Given the description of an element on the screen output the (x, y) to click on. 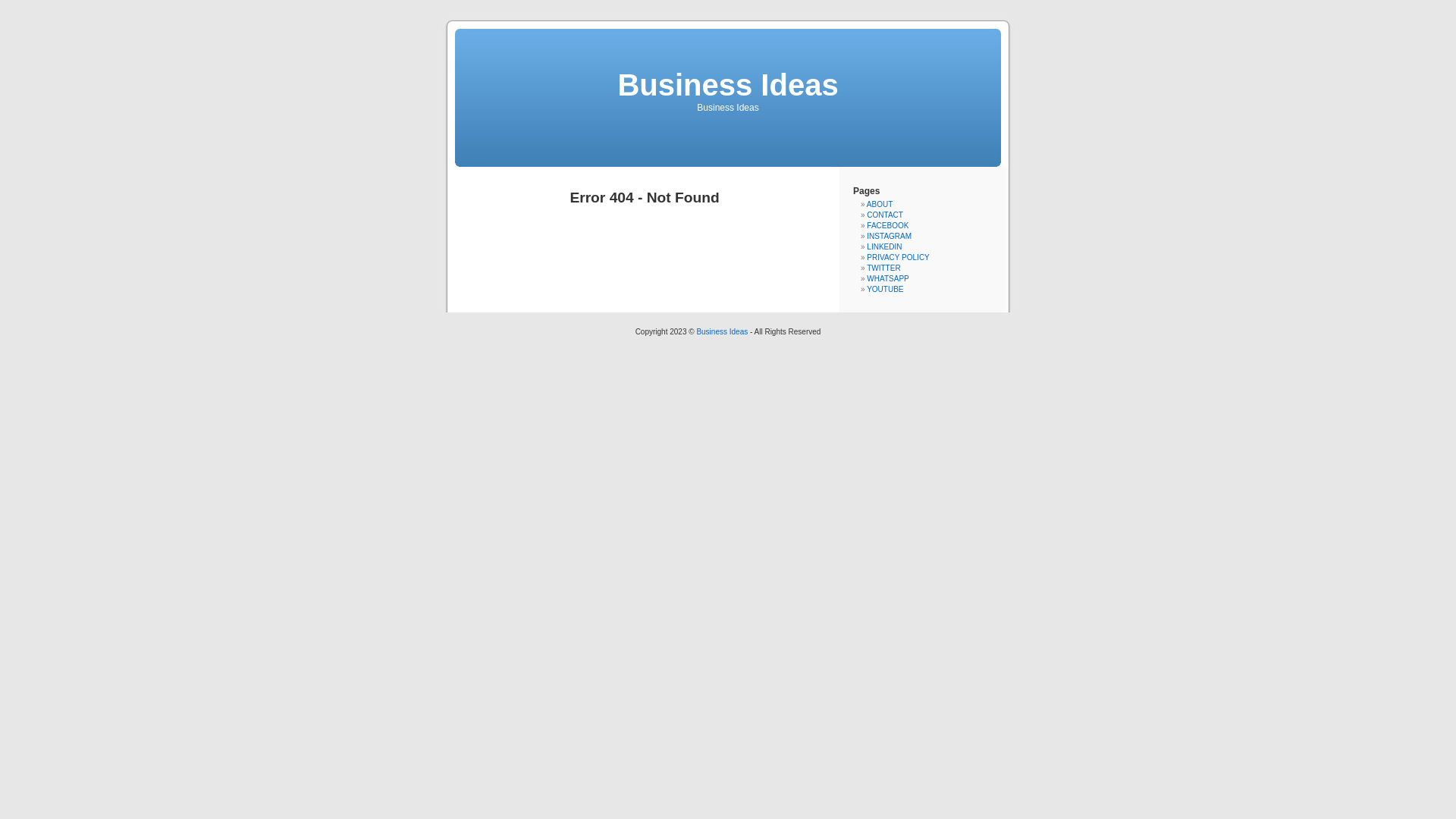
WHATSAPP Element type: text (887, 278)
FACEBOOK Element type: text (887, 225)
INSTAGRAM Element type: text (888, 236)
Business Ideas Element type: text (727, 84)
Business Ideas Element type: text (721, 331)
CONTACT Element type: text (884, 214)
TWITTER Element type: text (883, 267)
LINKEDIN Element type: text (883, 246)
ABOUT Element type: text (879, 204)
YOUTUBE Element type: text (884, 289)
PRIVACY POLICY Element type: text (897, 257)
